Given the description of an element on the screen output the (x, y) to click on. 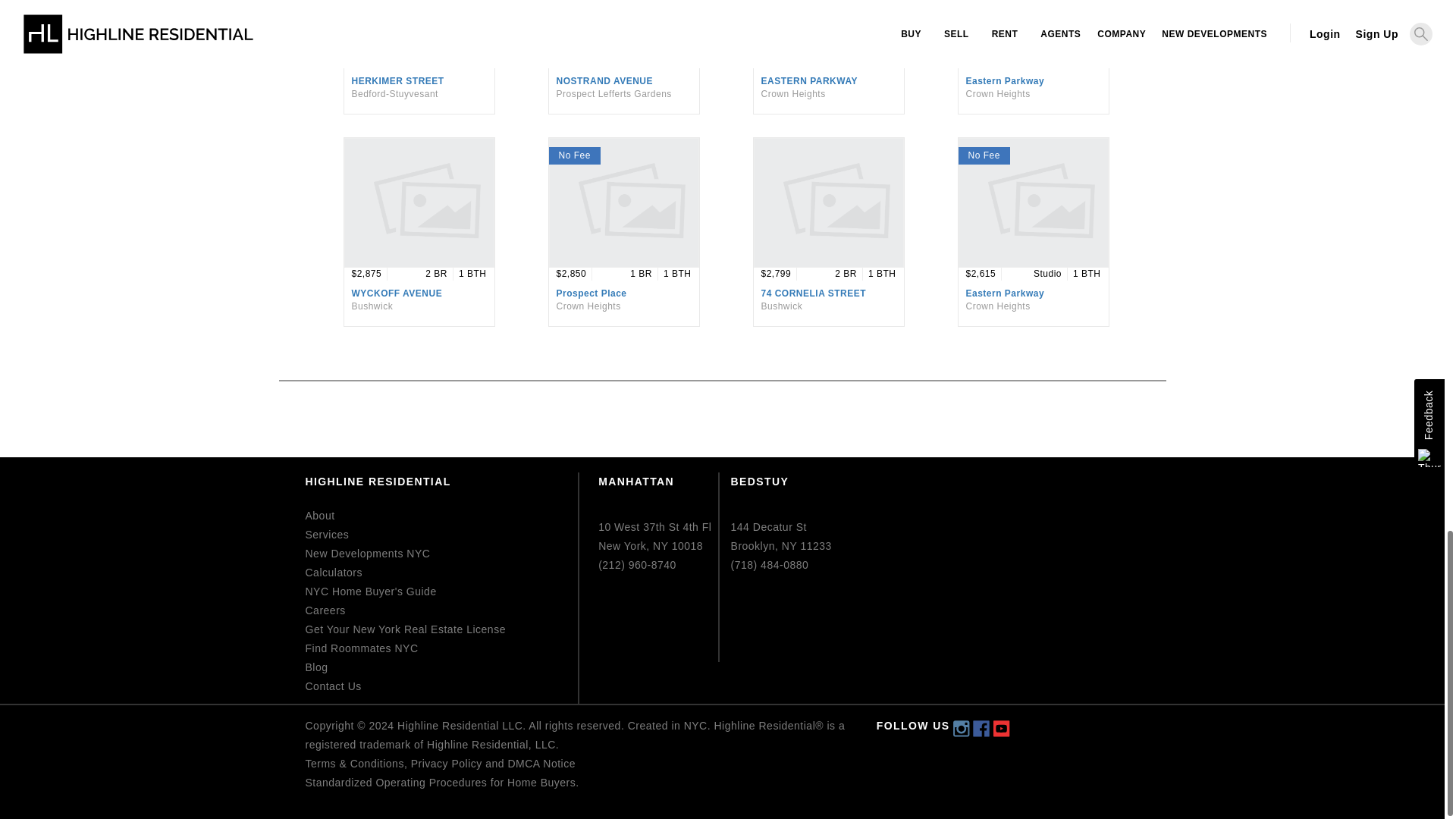
HERKIMER STREET (398, 81)
